Given the description of an element on the screen output the (x, y) to click on. 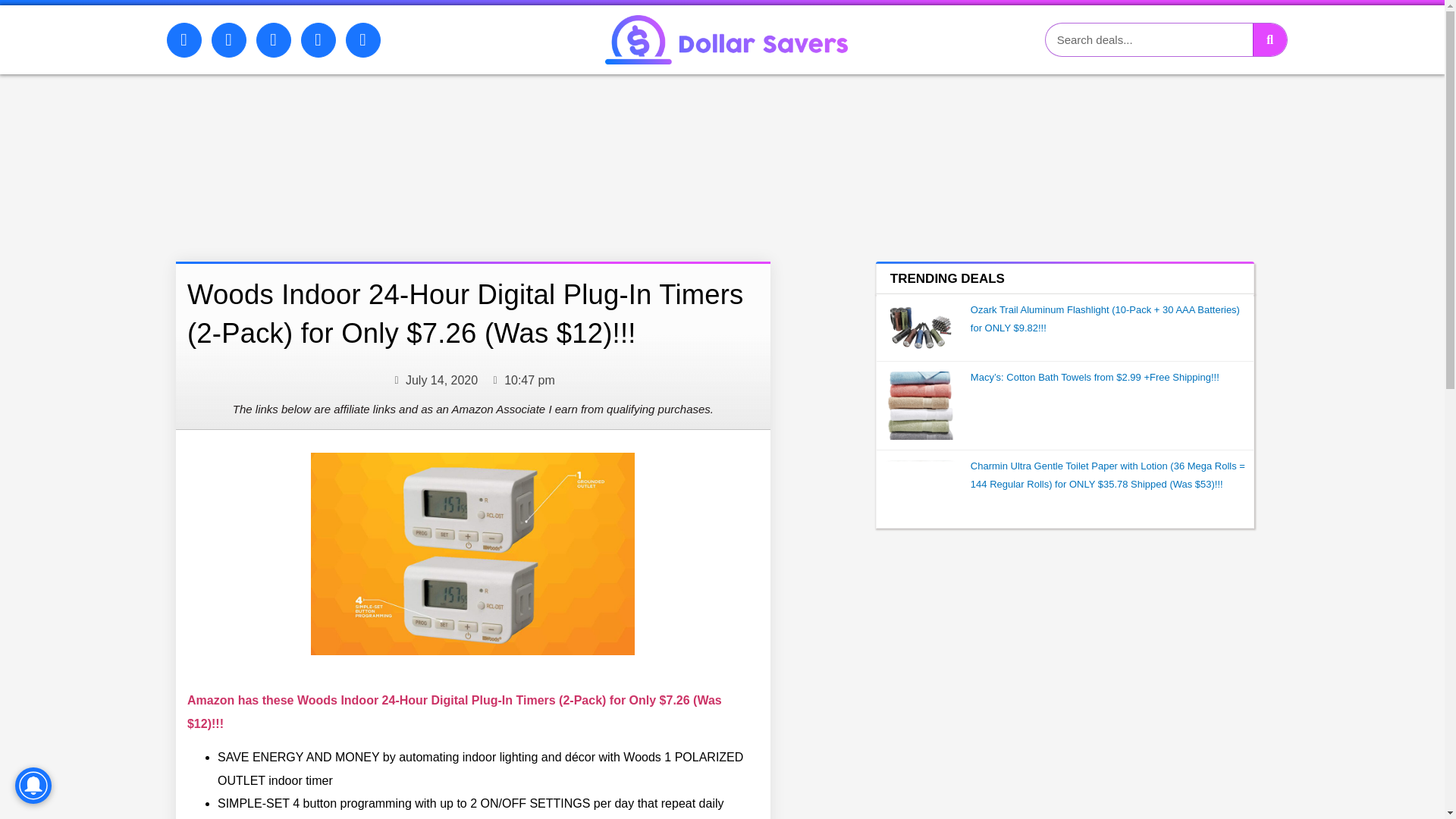
Search (1269, 39)
Advertisement (429, 153)
July 14, 2020 (434, 380)
Search (1148, 39)
Advertisement (1064, 645)
